Given the description of an element on the screen output the (x, y) to click on. 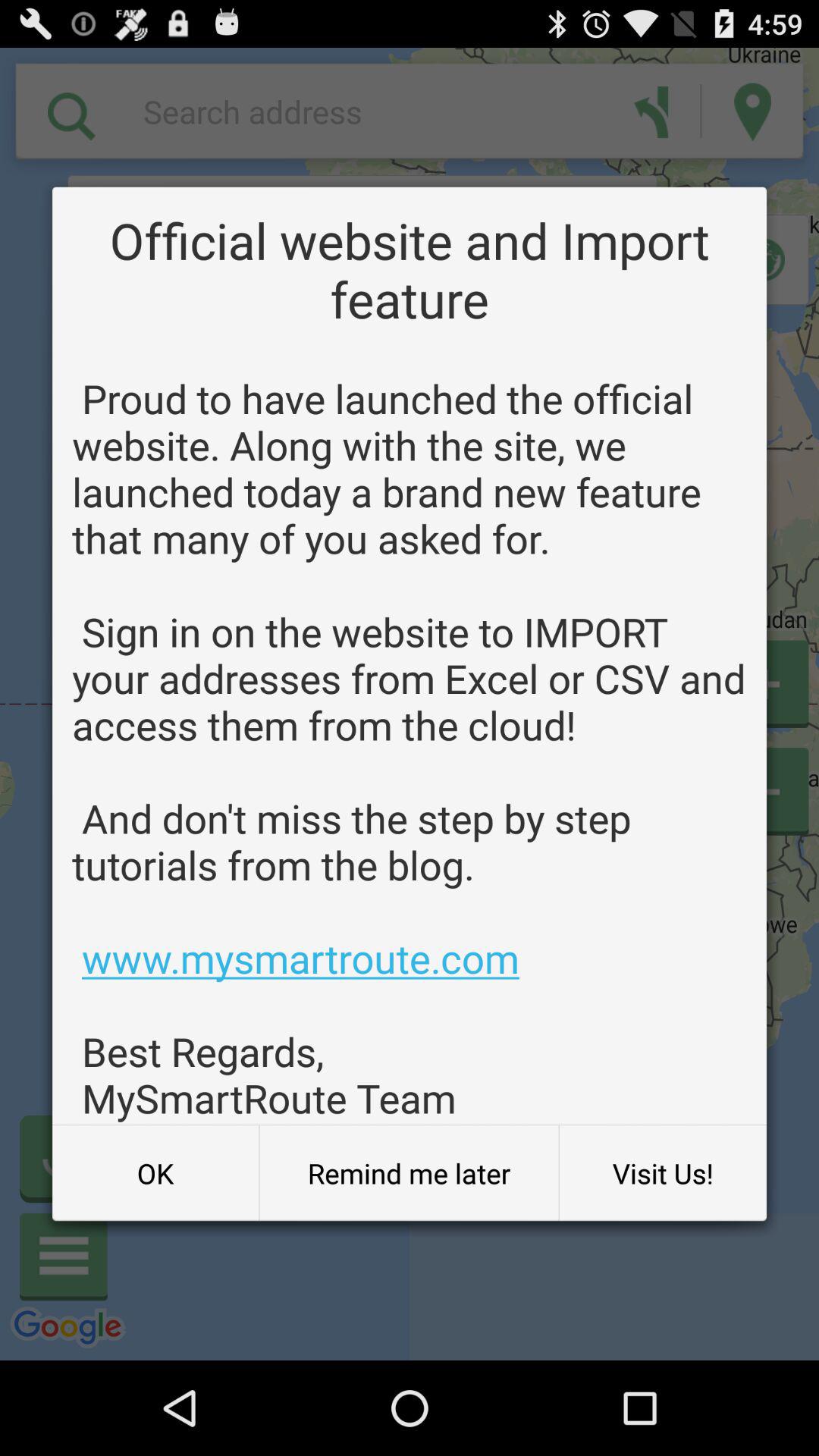
launch button next to remind me later item (155, 1173)
